Given the description of an element on the screen output the (x, y) to click on. 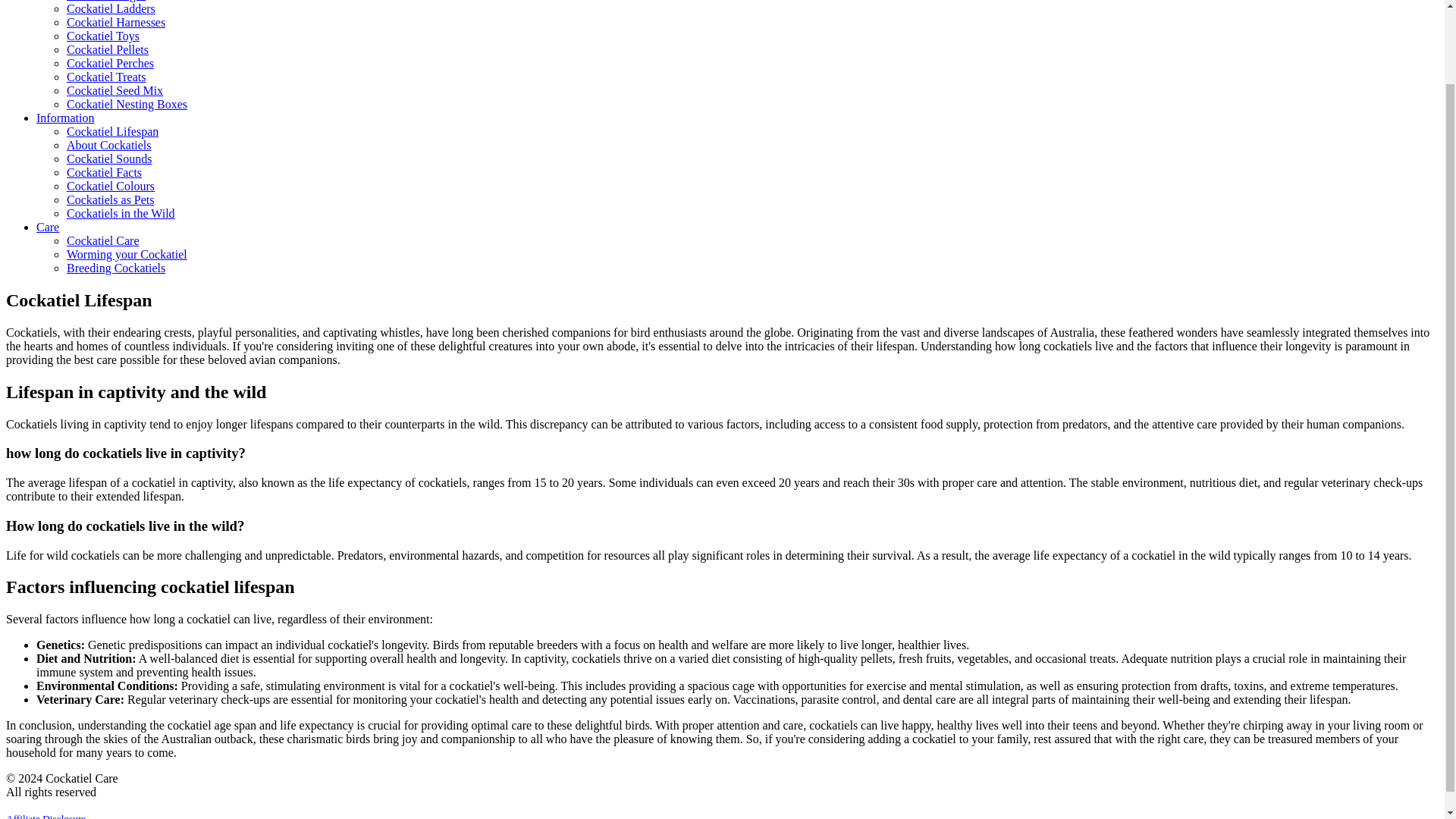
Cockatiel Seed Mix (114, 90)
Cockatiel Sounds (108, 158)
Cockatiels as Pets (110, 199)
About Cockatiels (108, 144)
Cockatiel Care (102, 240)
Cockatiel Colours (110, 185)
Cockatiel Treats (105, 76)
Cockatiel Lifespan (112, 131)
Cockatiel Facts (103, 172)
Breeding Cockatiels (115, 267)
Cockatiel Harnesses (115, 21)
Cockatiel Perches (110, 62)
Cockatiel Ladders (110, 8)
Cockatiel Toys (102, 35)
Care (47, 226)
